Given the description of an element on the screen output the (x, y) to click on. 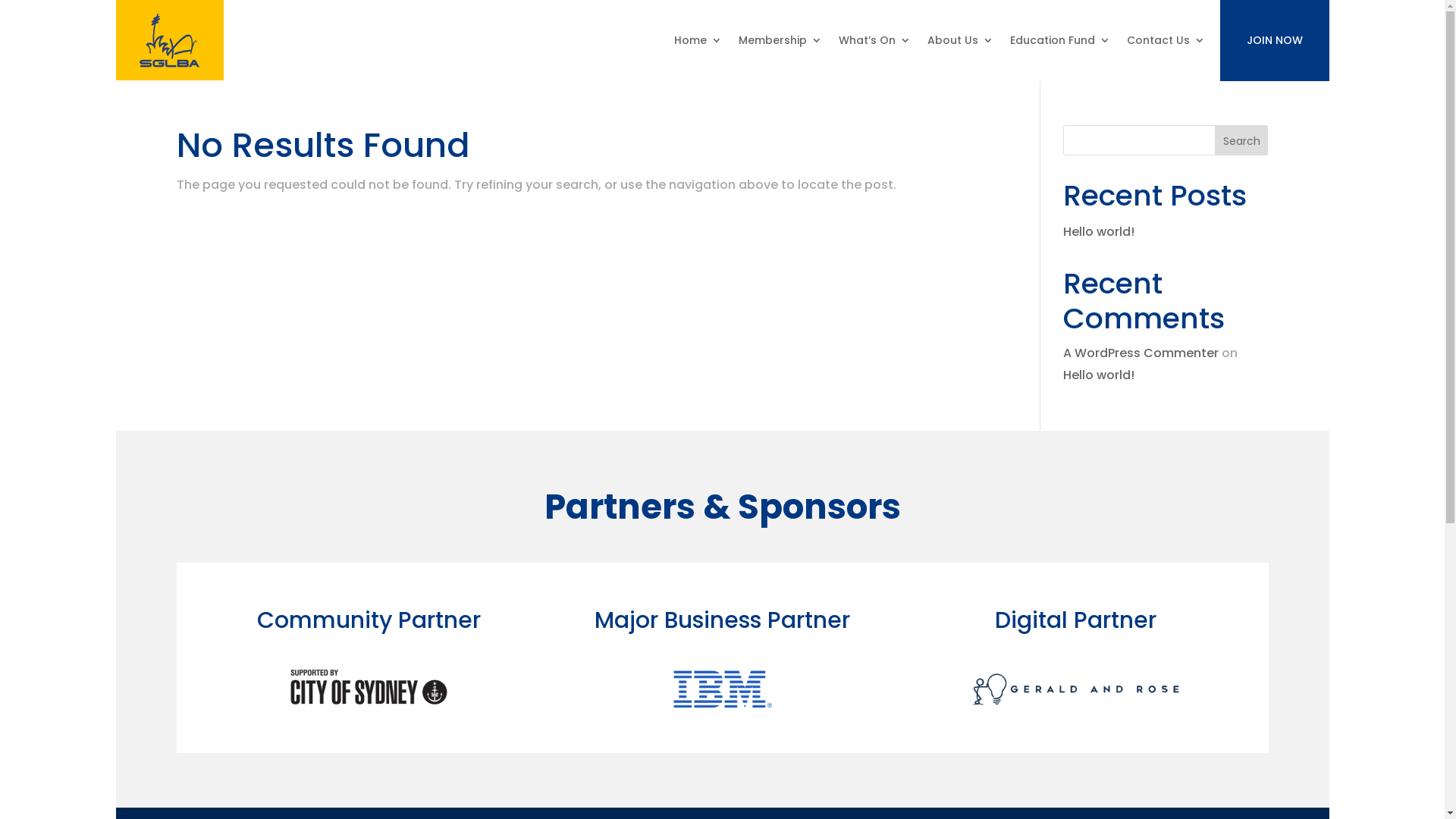
Membership Element type: text (780, 40)
Education Fund Element type: text (1060, 40)
Hello world! Element type: text (1098, 231)
Search Element type: text (1241, 140)
Hello world! Element type: text (1098, 374)
Home Element type: text (697, 40)
Contact Us Element type: text (1165, 40)
About Us Element type: text (959, 40)
A WordPress Commenter Element type: text (1140, 352)
